Given the description of an element on the screen output the (x, y) to click on. 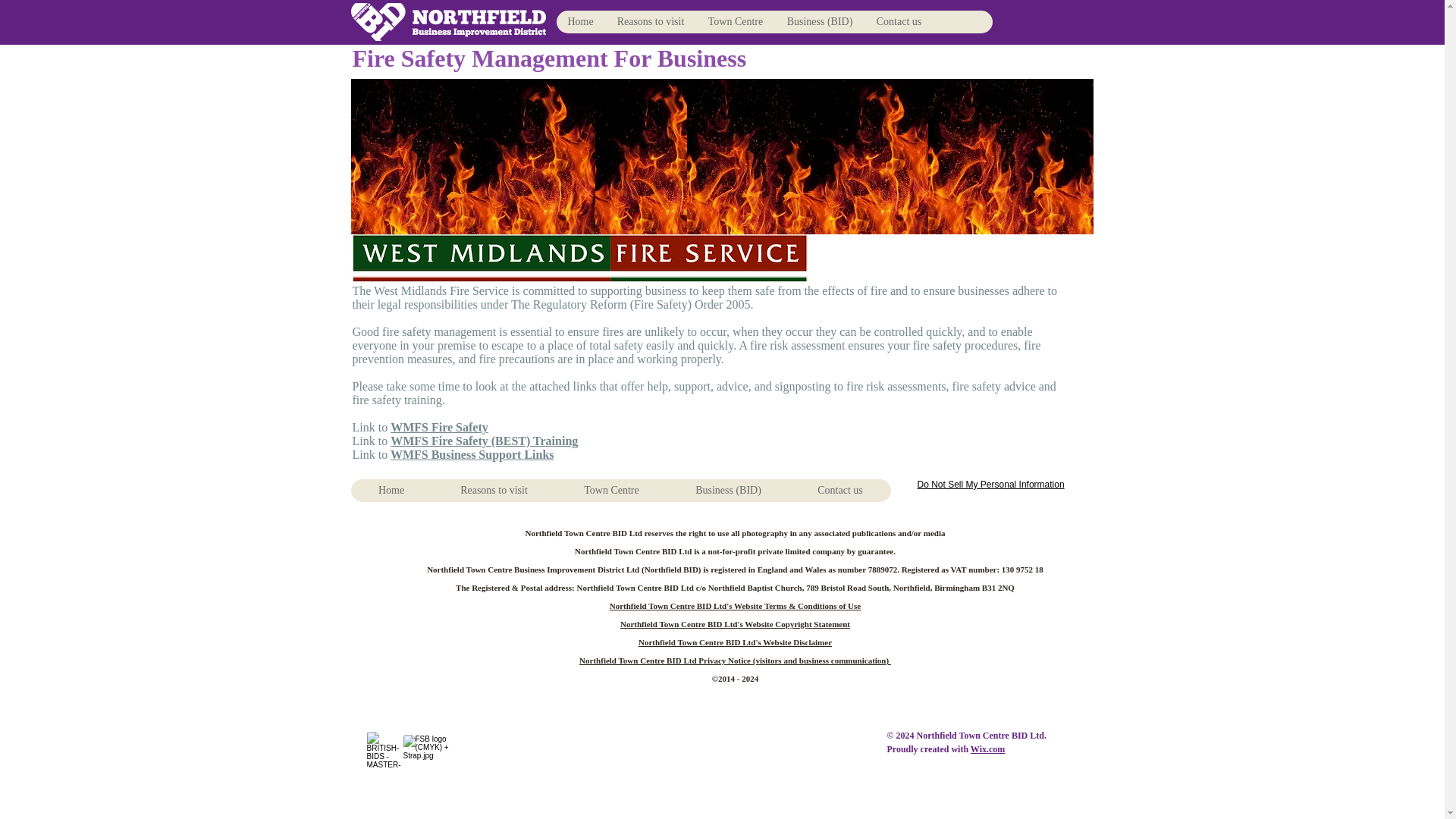
Town Centre (734, 21)
WMFS Fire Safety (438, 427)
Reasons to visit (494, 490)
Contact us (898, 21)
Home (390, 490)
Link to (371, 440)
Reasons to visit (650, 21)
Town Centre (610, 490)
WMFS Business Support Links (472, 454)
Home (580, 21)
